Given the description of an element on the screen output the (x, y) to click on. 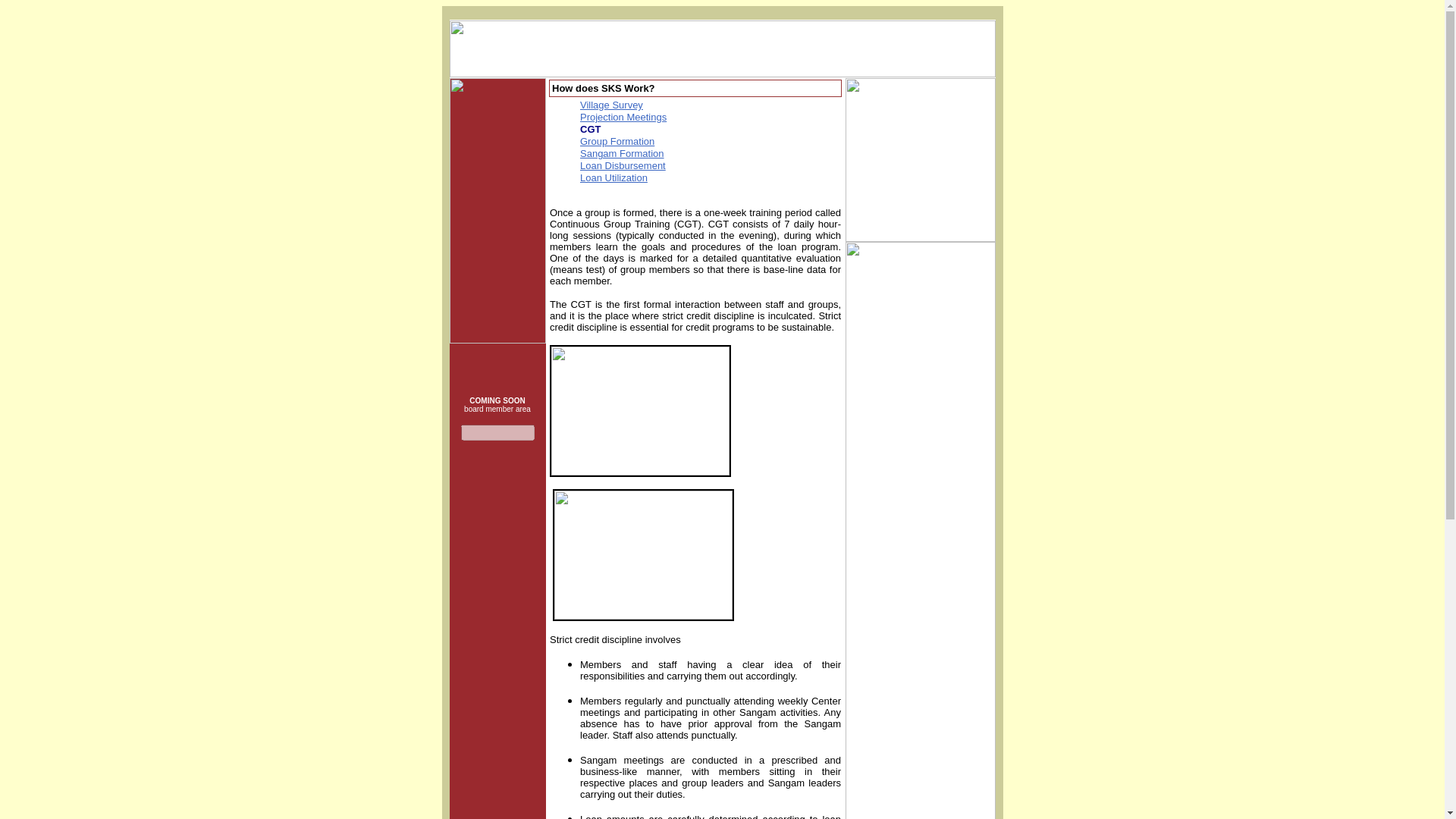
Village Survey (611, 104)
Sangam Formation (621, 153)
Projection Meetings (622, 116)
Loan Utilization (613, 177)
Loan Disbursement (622, 165)
Group Formation (616, 141)
